Given the description of an element on the screen output the (x, y) to click on. 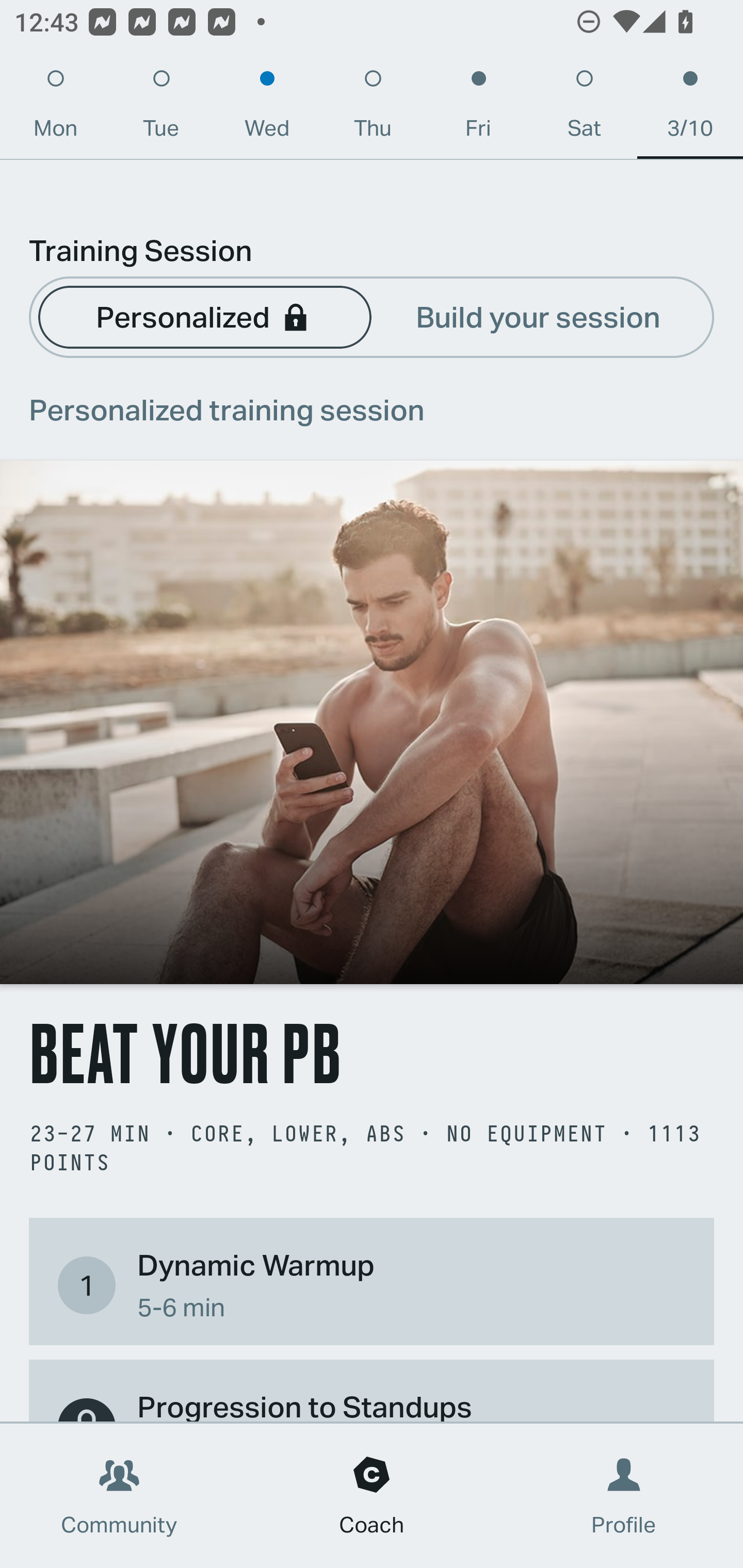
Mon (55, 108)
Tue (160, 108)
Wed (266, 108)
Thu (372, 108)
Fri (478, 108)
Sat (584, 108)
3/10 (690, 108)
Personalized (204, 315)
Build your session (538, 315)
1 Dynamic Warmup 5-6 min (371, 1284)
Community (119, 1495)
Profile (624, 1495)
